Given the description of an element on the screen output the (x, y) to click on. 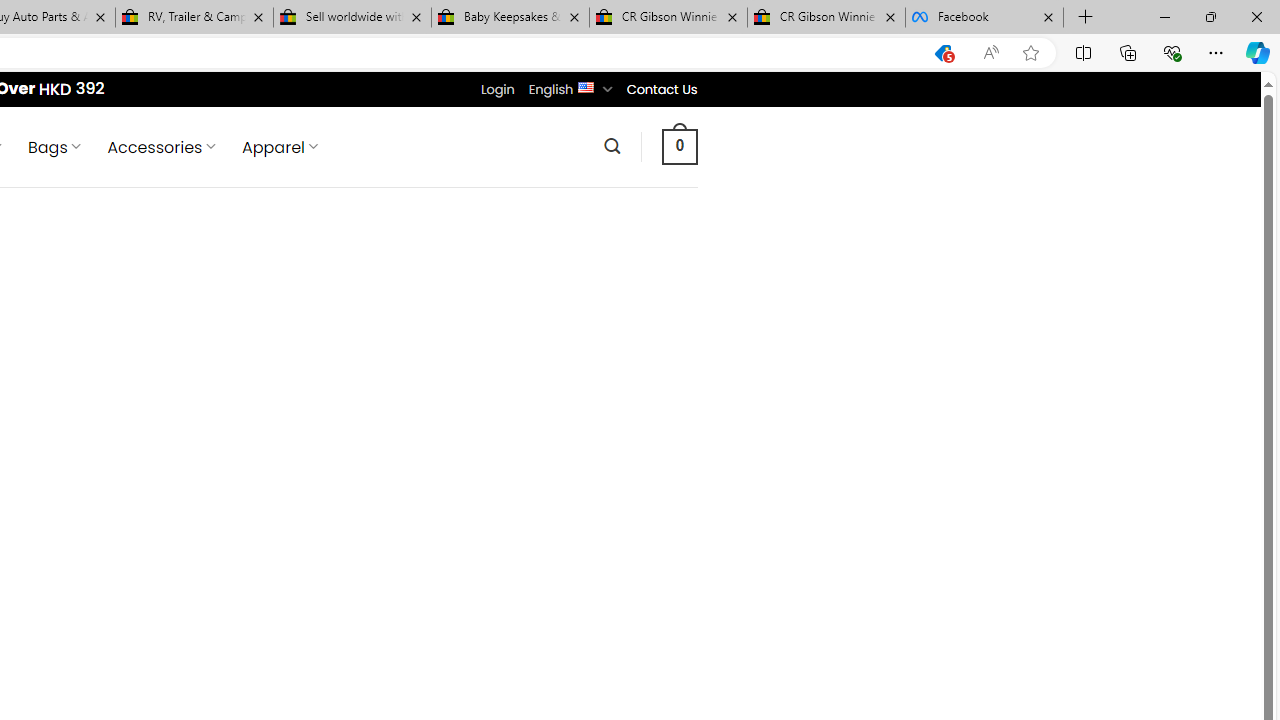
  0   (679, 146)
